Given the description of an element on the screen output the (x, y) to click on. 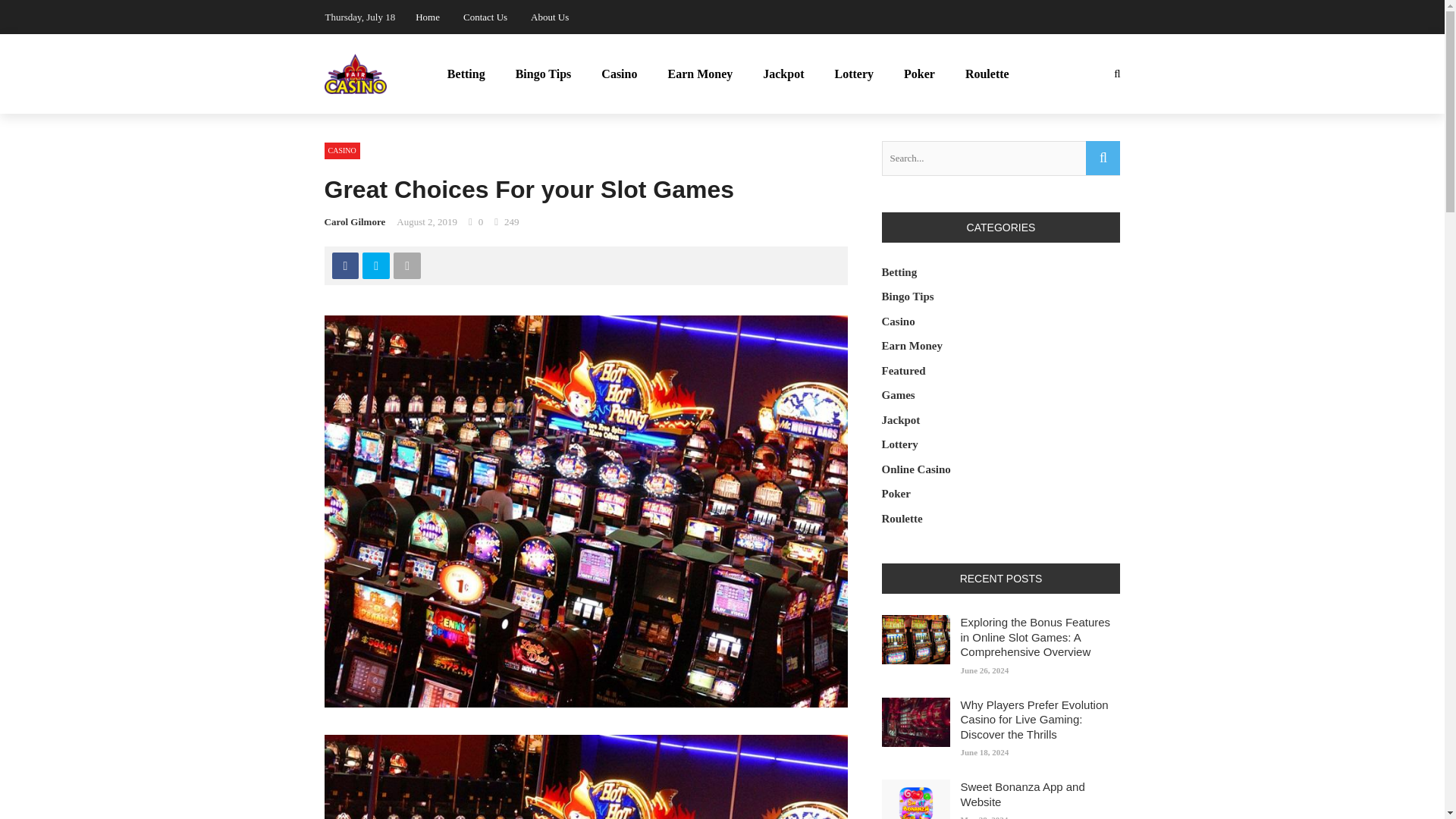
About Us (550, 16)
Carol Gilmore (354, 221)
CASINO (341, 150)
Earn Money (700, 73)
Contact Us (484, 16)
Jackpot (783, 73)
Home (426, 16)
Bingo Tips (543, 73)
Roulette (987, 73)
